Given the description of an element on the screen output the (x, y) to click on. 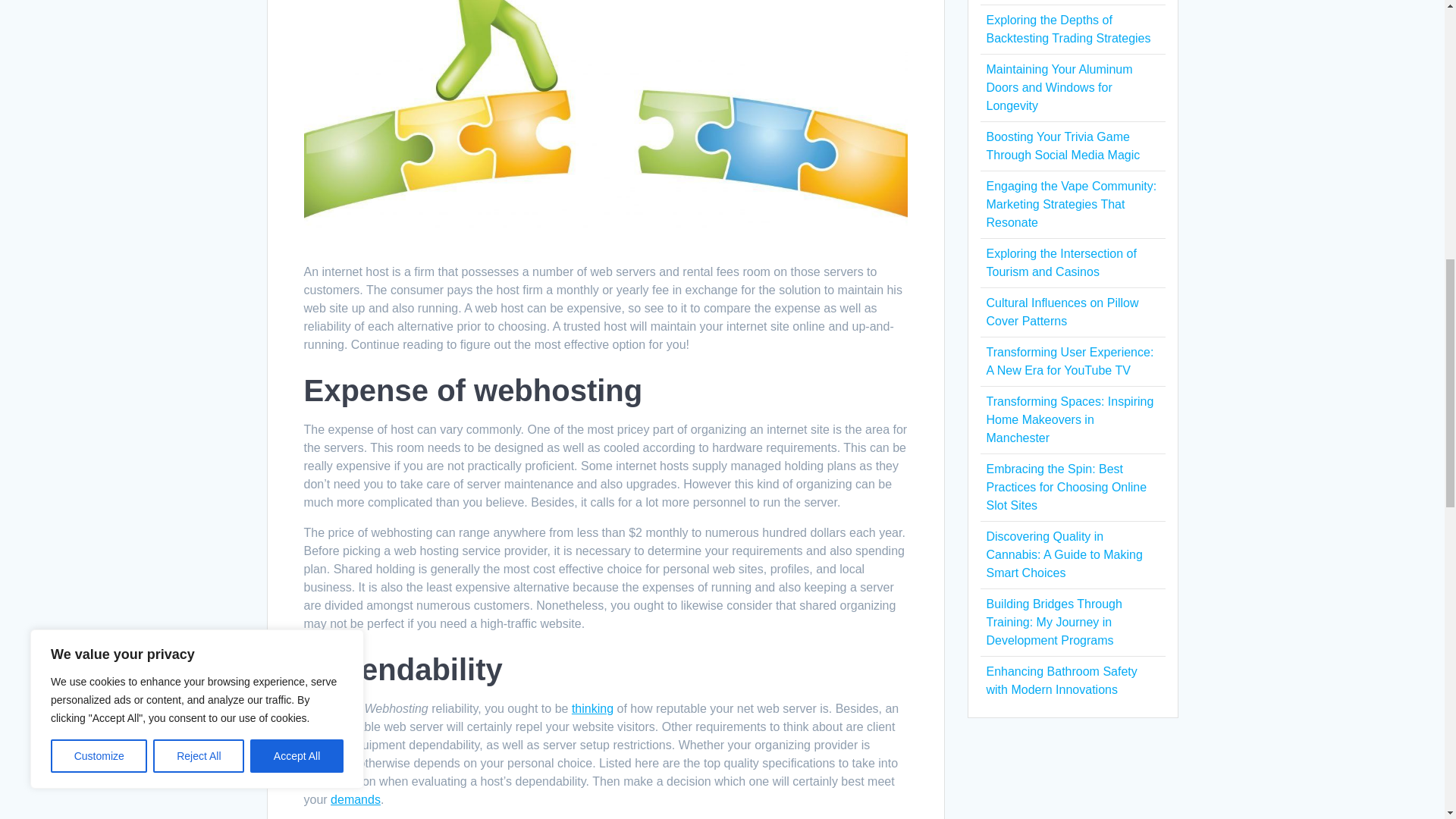
Maintaining Your Aluminum Doors and Windows for Longevity (1058, 87)
Exploring the Depths of Backtesting Trading Strategies (1067, 29)
Boosting Your Trivia Game Through Social Media Magic (1062, 145)
thinking (592, 707)
demands (355, 799)
